Given the description of an element on the screen output the (x, y) to click on. 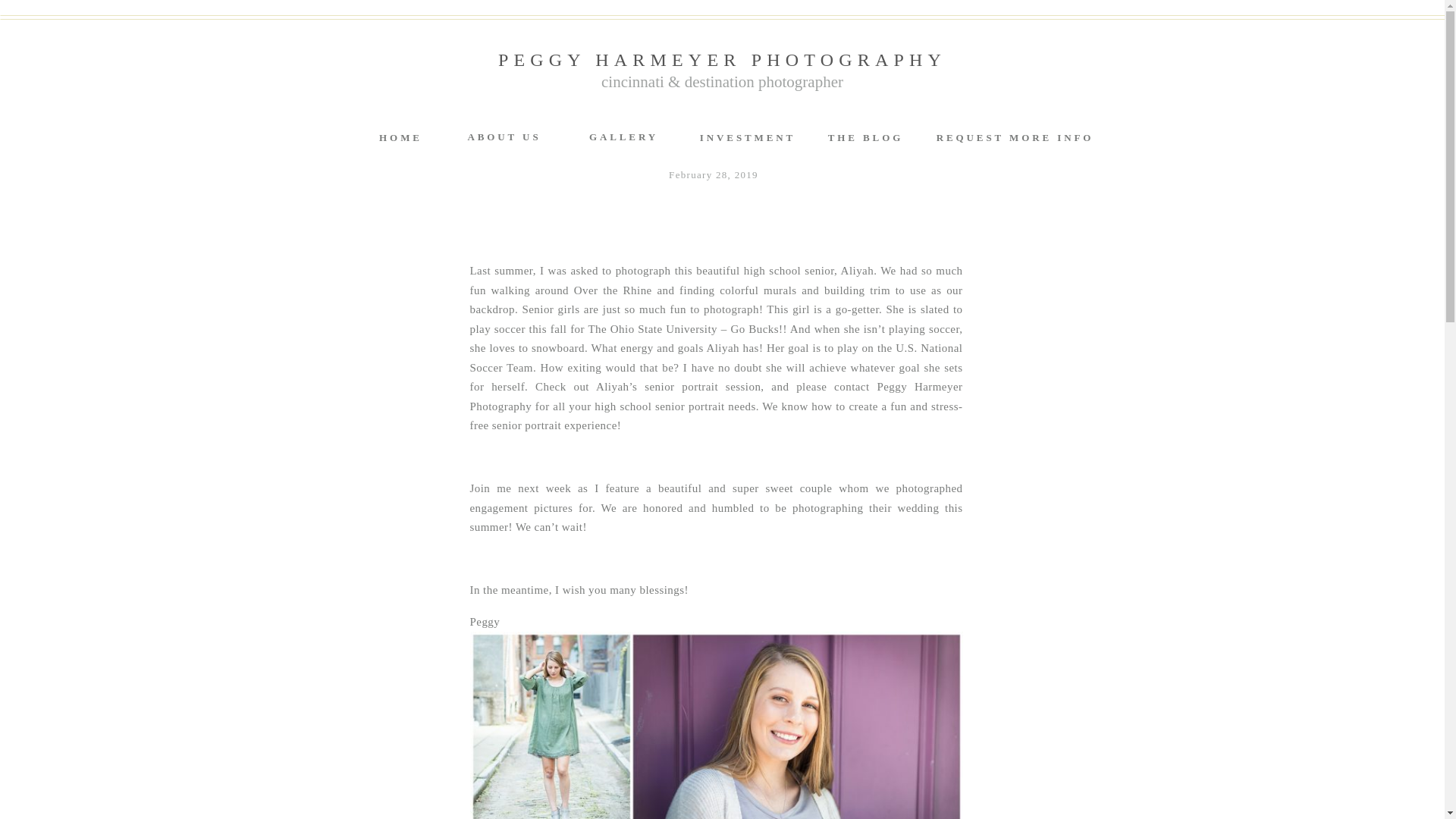
REQUEST MORE INFO (1015, 136)
HOME (400, 136)
INVESTMENT (747, 136)
PEGGY HARMEYER PHOTOGRAPHY (721, 55)
GALLERY (622, 136)
THE BLOG (865, 136)
ABOUT US (504, 136)
